Given the description of an element on the screen output the (x, y) to click on. 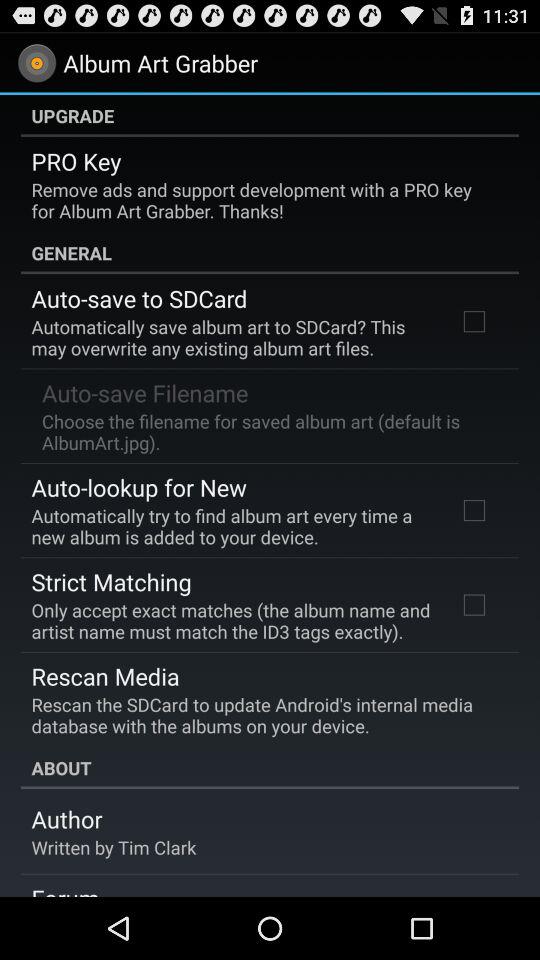
click the item above about (263, 715)
